Given the description of an element on the screen output the (x, y) to click on. 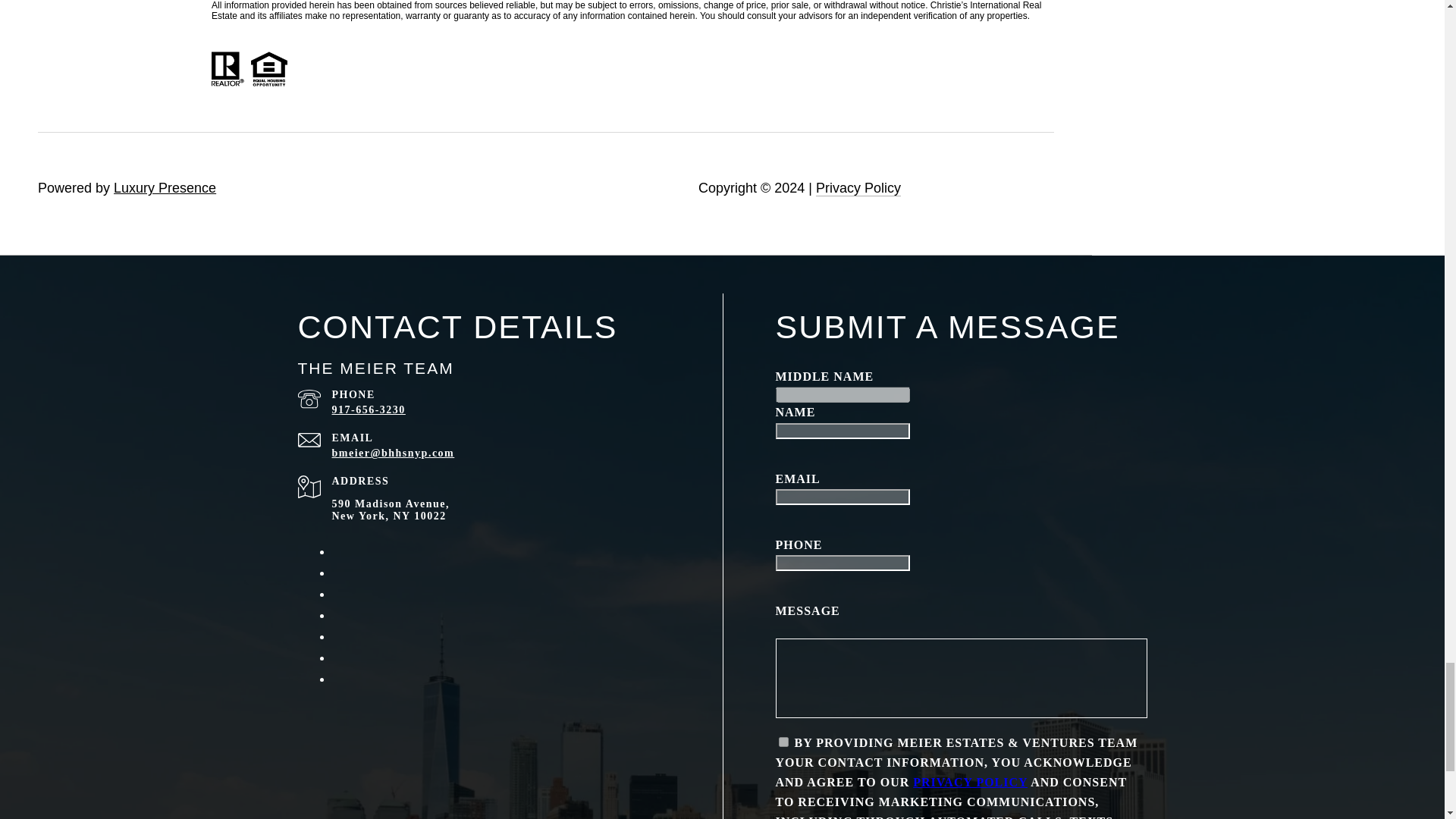
on (782, 741)
